Given the description of an element on the screen output the (x, y) to click on. 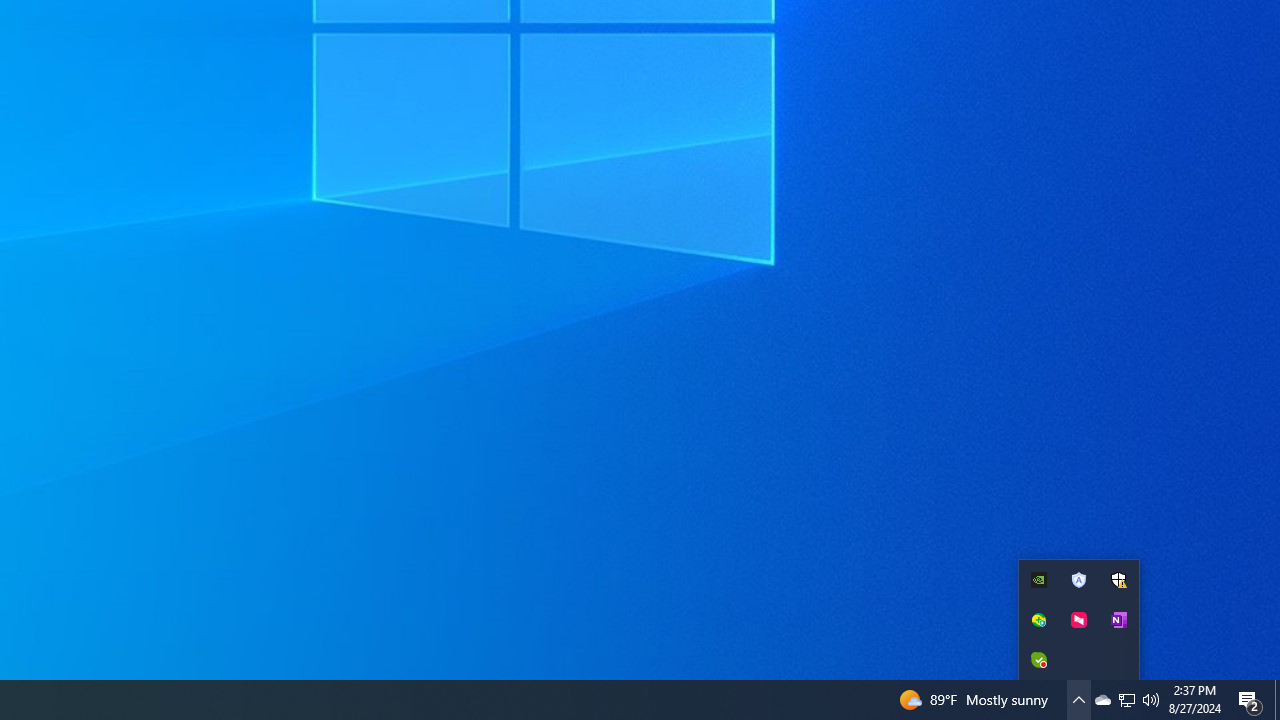
Windows Security - Actions recommended. (1119, 579)
Action Center, 2 new notifications (1250, 699)
New quick note (1119, 619)
Overflow Notification Area (1078, 619)
